Given the description of an element on the screen output the (x, y) to click on. 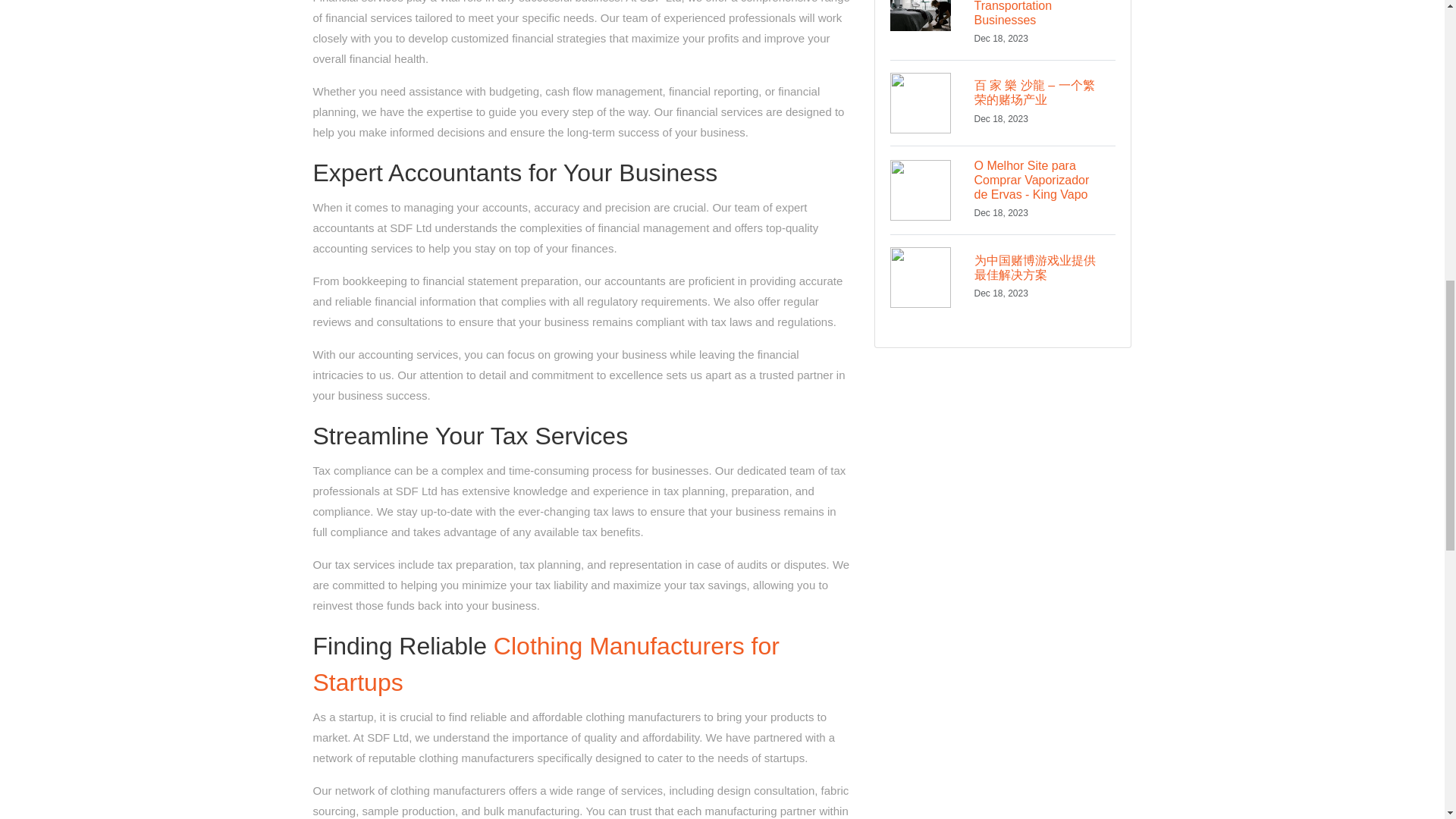
Clothing Manufacturers for Startups (545, 664)
